Given the description of an element on the screen output the (x, y) to click on. 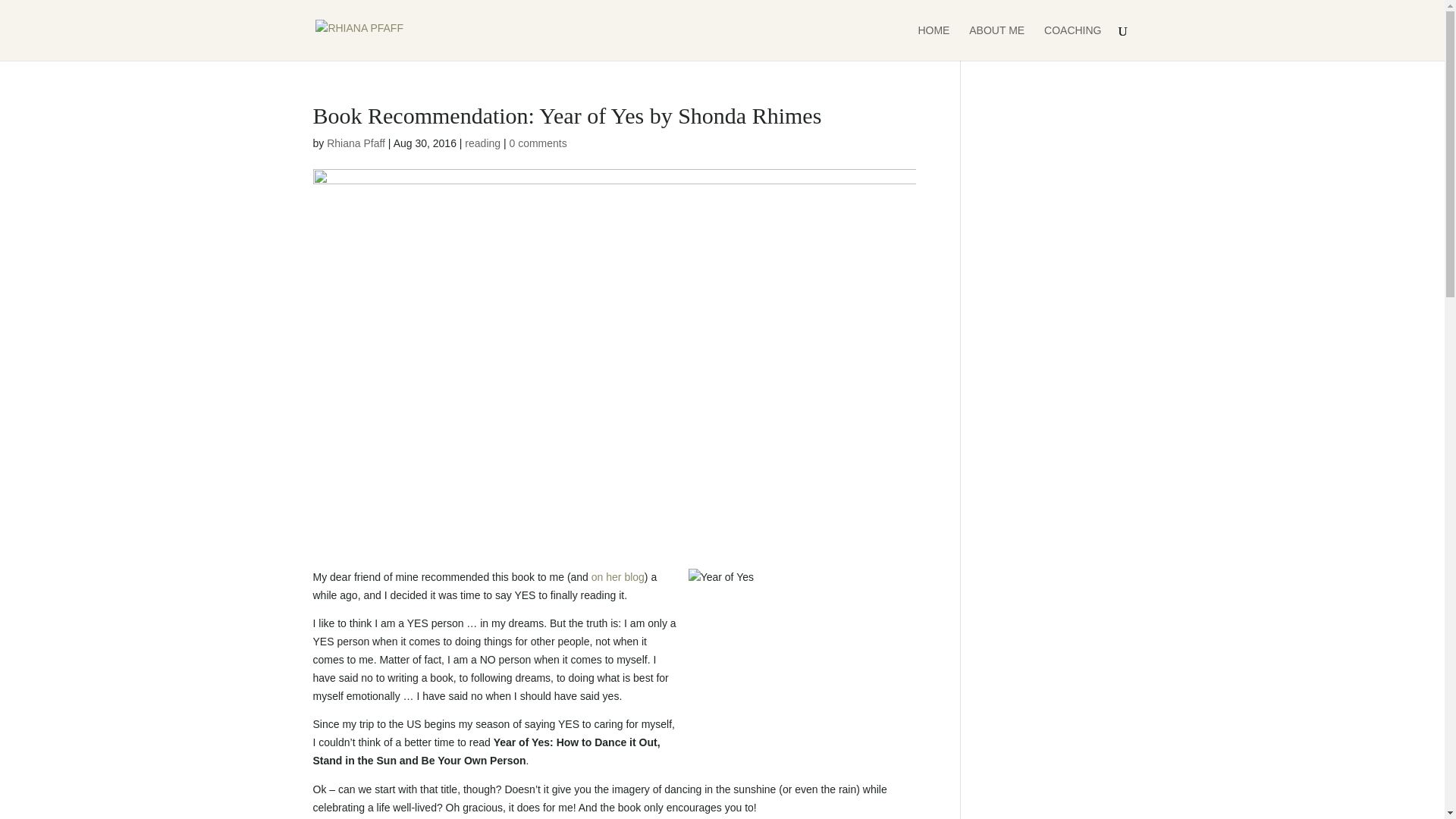
HOME (933, 42)
Rhiana Pfaff (355, 143)
ABOUT ME (997, 42)
COACHING (1071, 42)
Posts by Rhiana Pfaff (355, 143)
reading (482, 143)
0 comments (537, 143)
on her blog (618, 576)
